Given the description of an element on the screen output the (x, y) to click on. 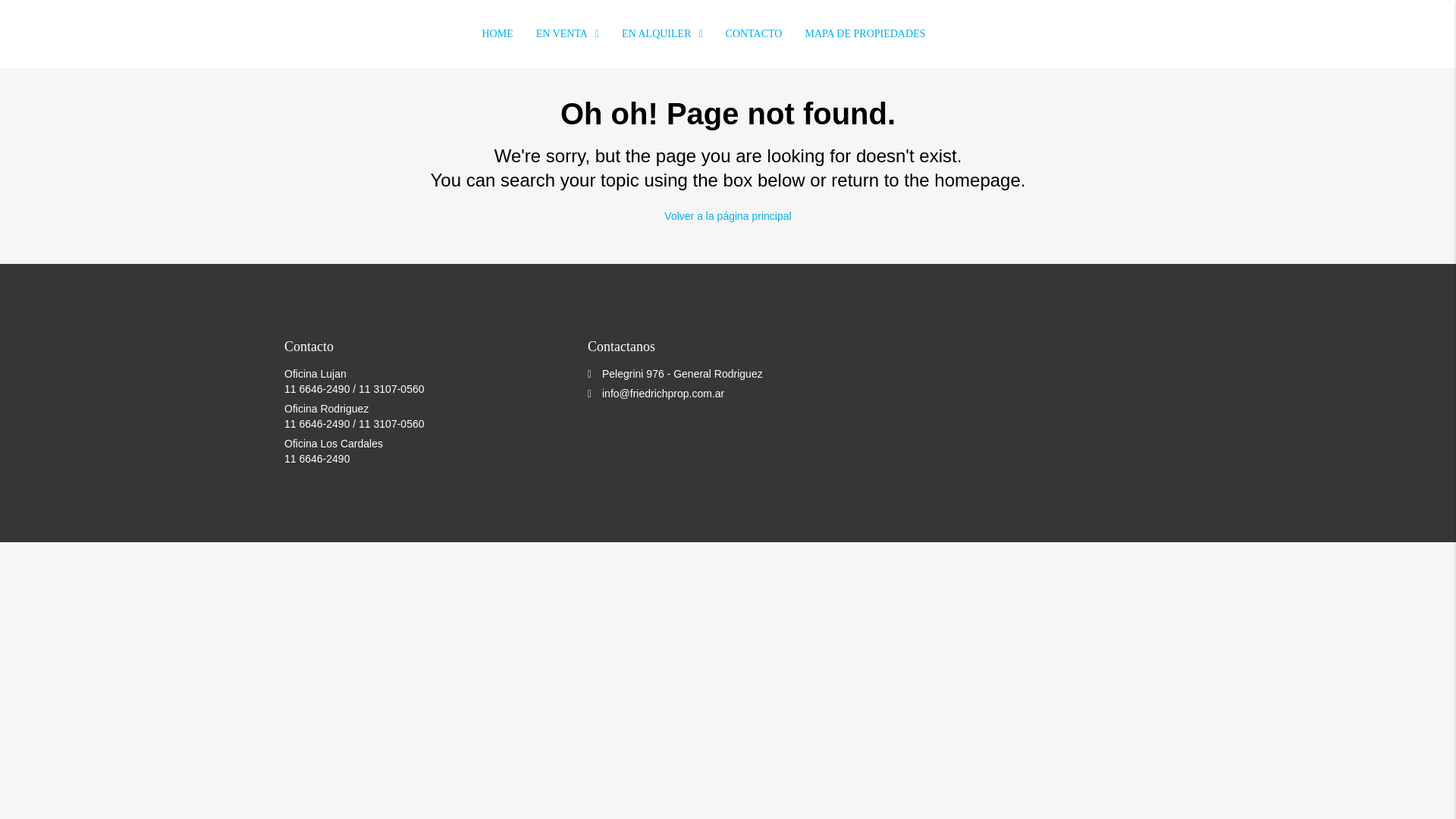
EN ALQUILER (662, 33)
EN VENTA (567, 33)
MAPA DE PROPIEDADES (864, 33)
CONTACTO (753, 33)
